Given the description of an element on the screen output the (x, y) to click on. 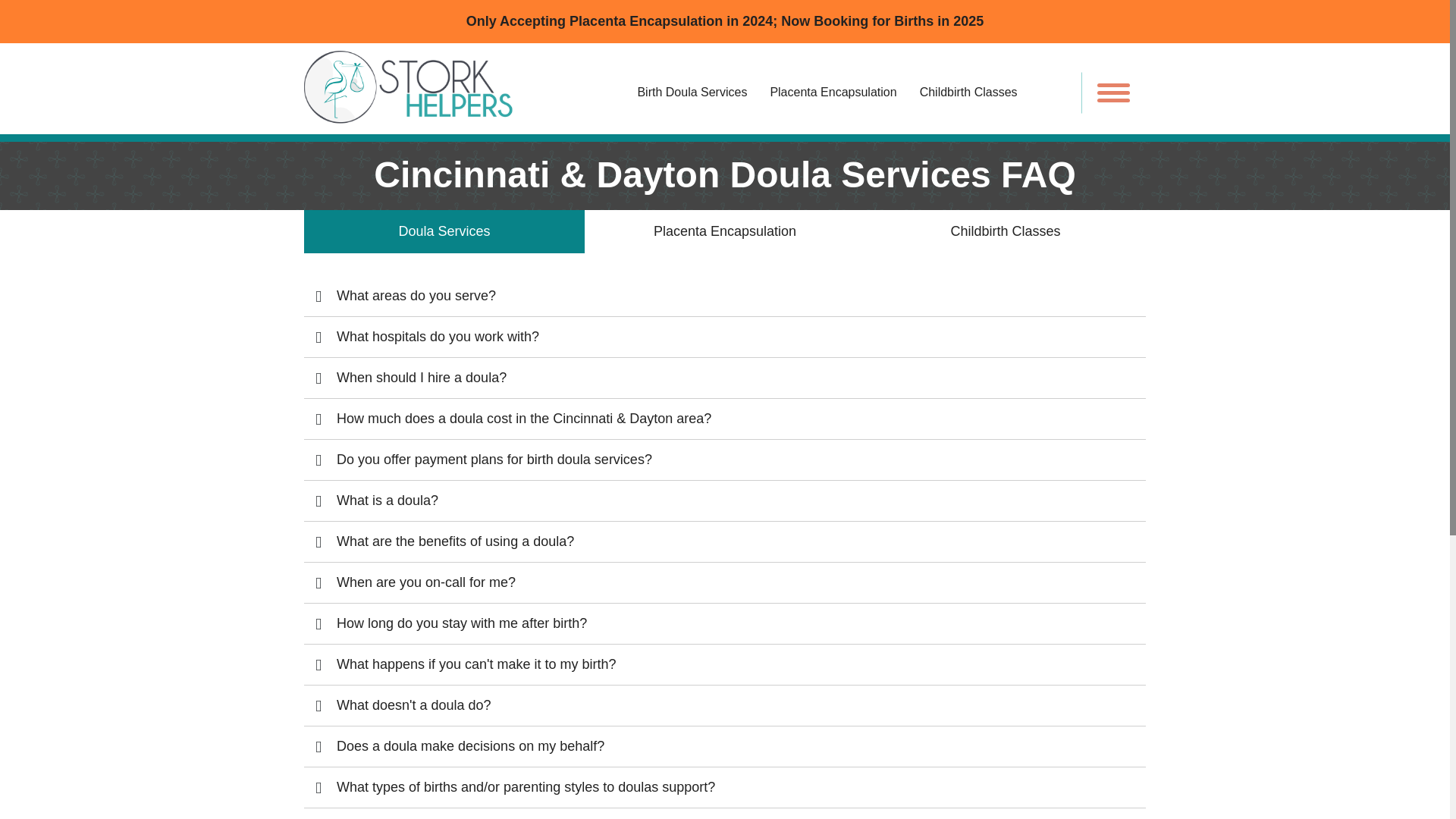
Placenta Encapsulation (832, 88)
Placenta Encapsulation (724, 231)
Doula Services (444, 231)
Birth Doula Services (692, 88)
Childbirth Classes (1004, 231)
View Menu (1113, 92)
Childbirth Classes (978, 88)
